Given the description of an element on the screen output the (x, y) to click on. 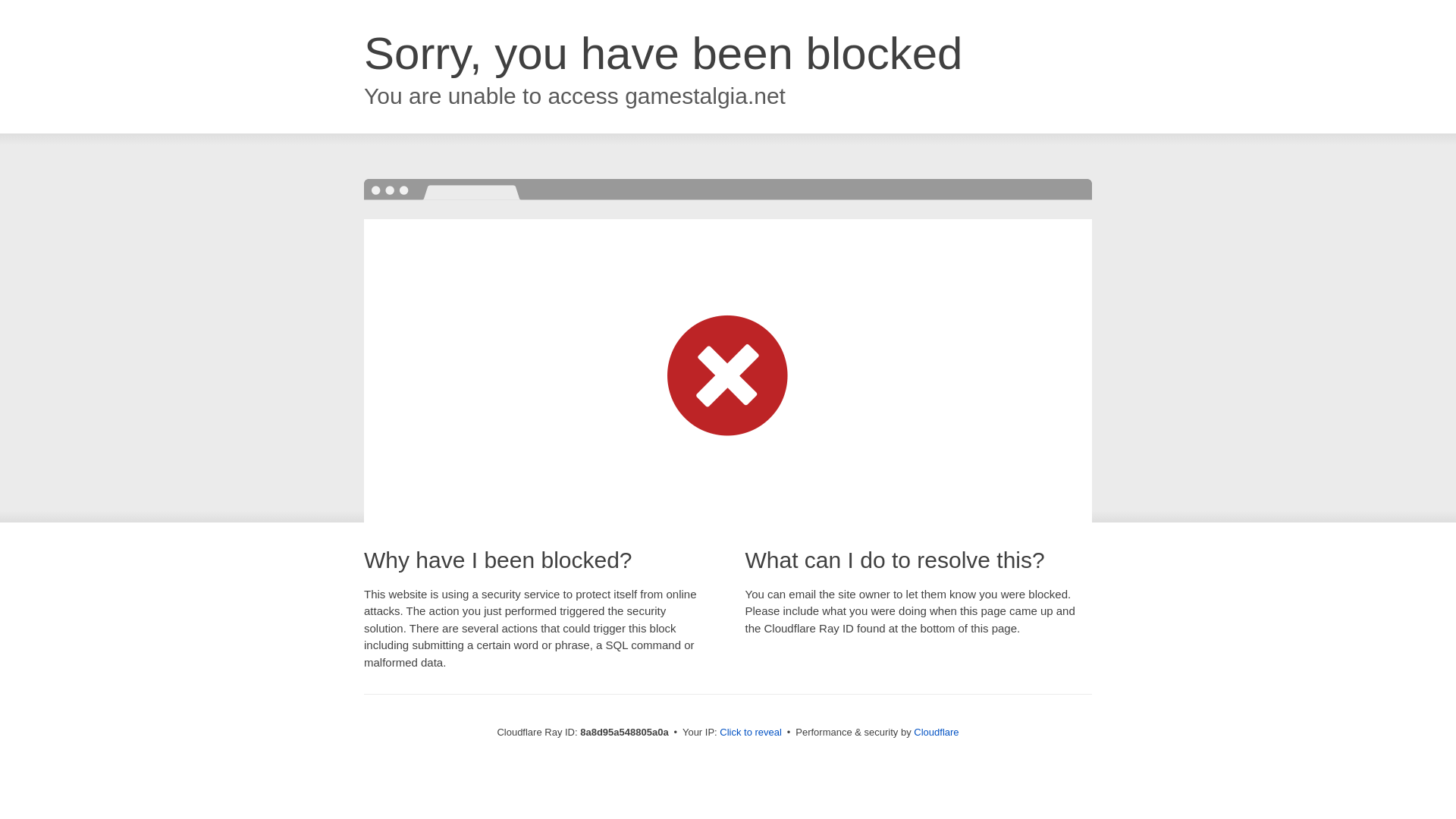
Cloudflare (936, 731)
Click to reveal (750, 732)
